Given the description of an element on the screen output the (x, y) to click on. 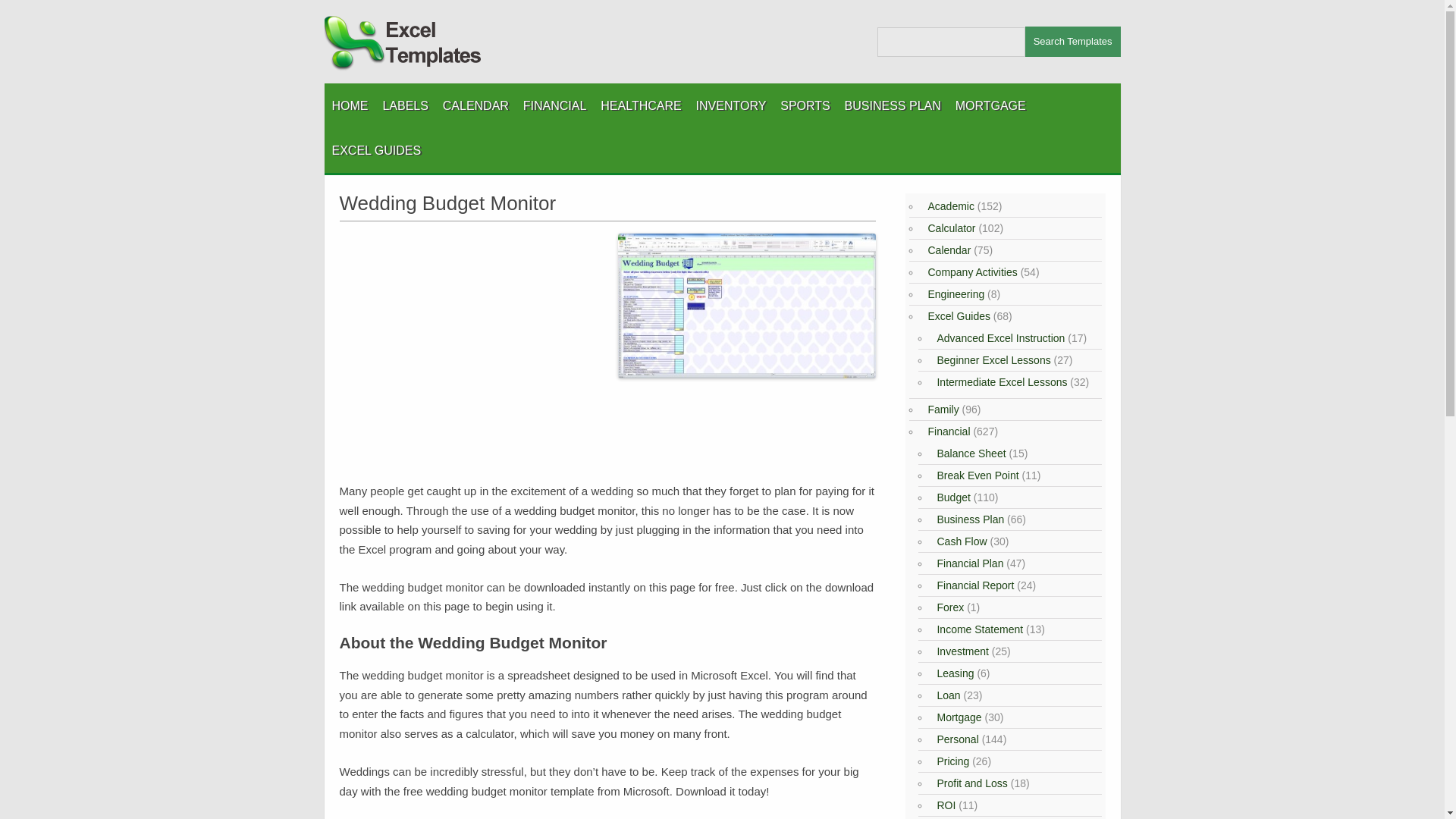
LABELS (404, 105)
Calculator (949, 227)
Cash Flow (960, 541)
Budget (951, 497)
Financial (946, 431)
Beginner Excel Lessons (991, 359)
SPORTS (804, 105)
BEGINNER EXCEL LESSONS (407, 187)
Excel Guides (956, 316)
Search Templates (1073, 41)
CALENDAR (475, 105)
HEALTHCARE (640, 105)
BUSINESS PLAN (892, 105)
Advanced Excel Instruction (998, 337)
